Given the description of an element on the screen output the (x, y) to click on. 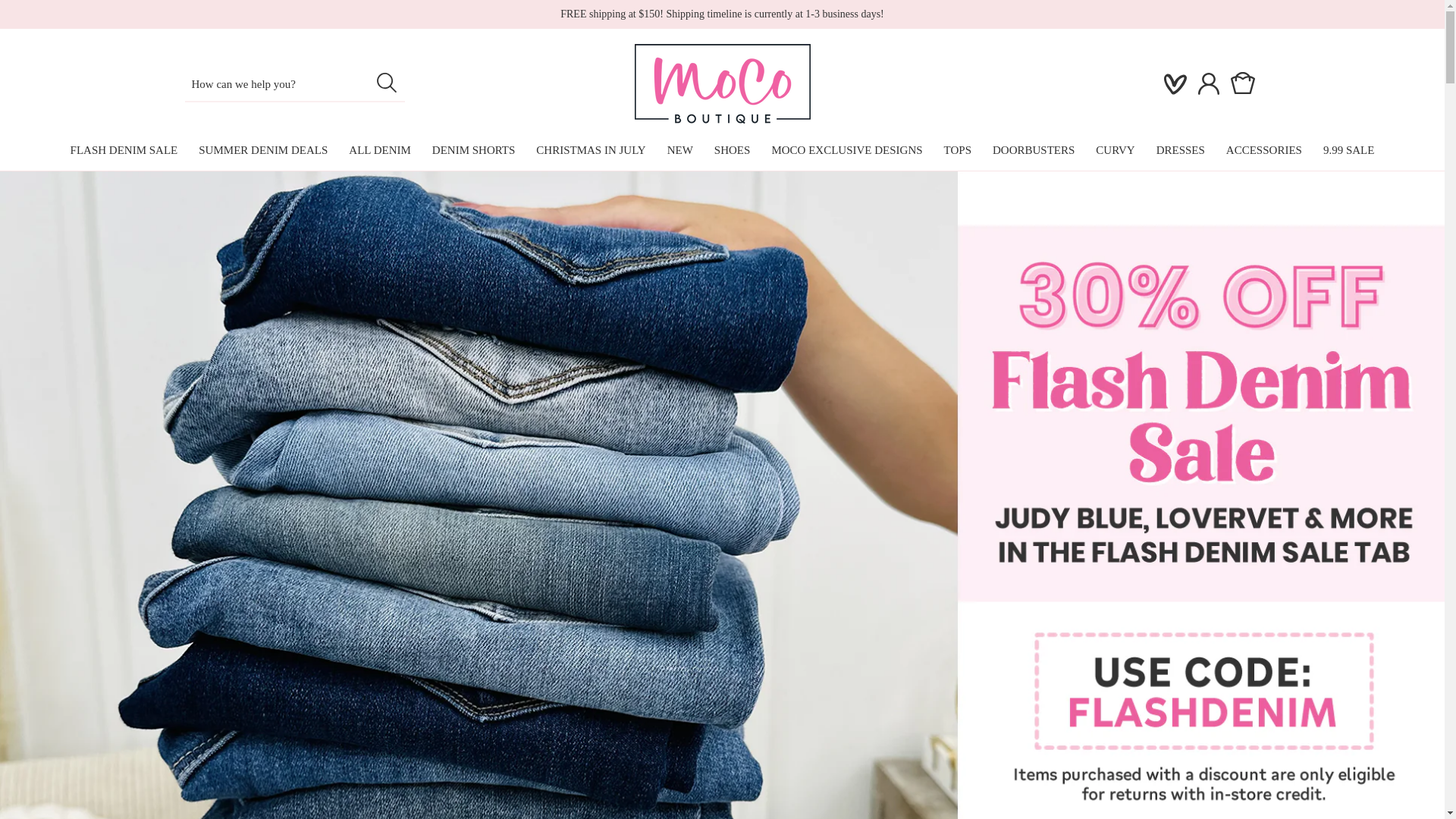
SKIP TO CONTENT (45, 16)
